Given the description of an element on the screen output the (x, y) to click on. 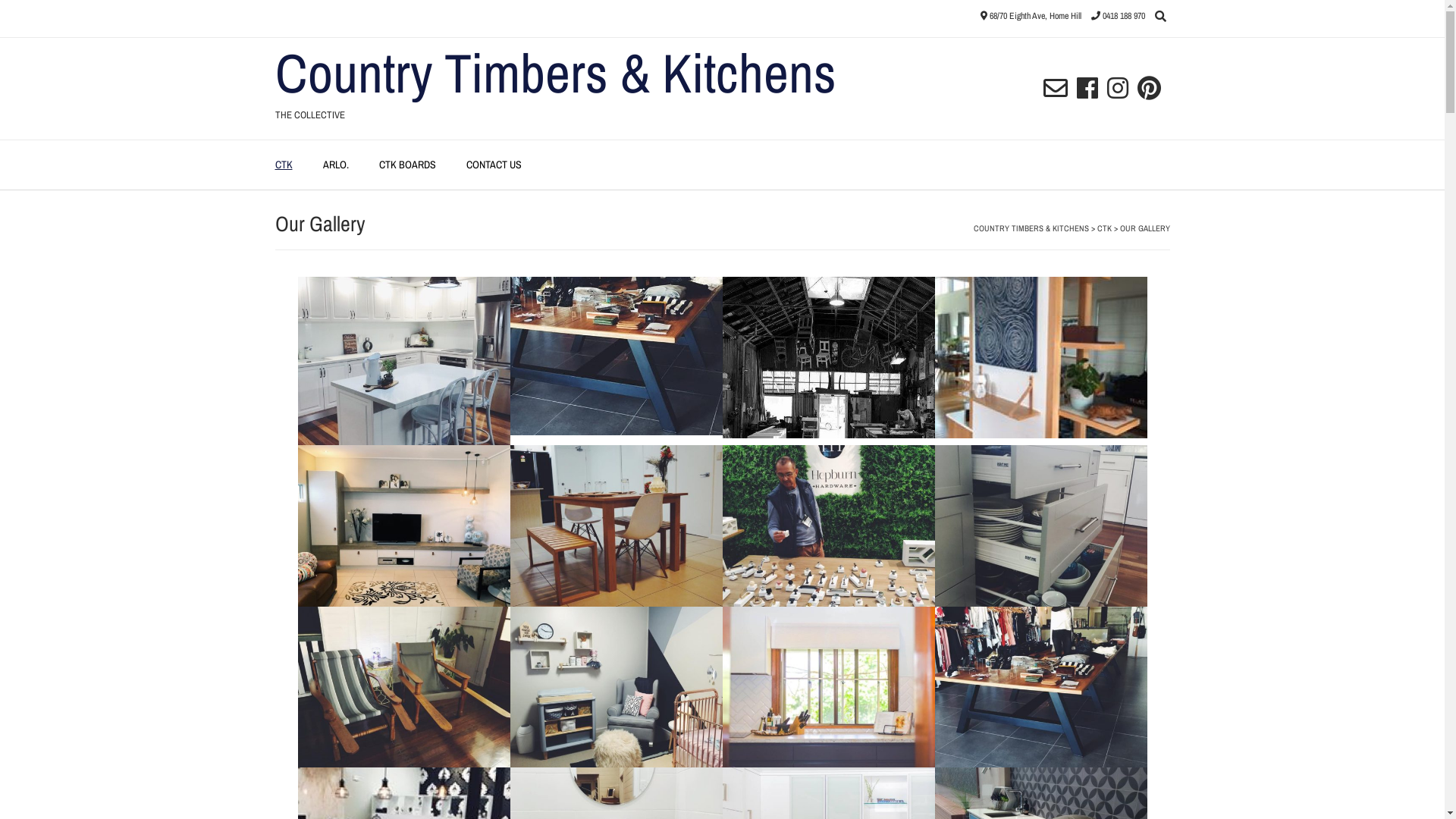
CTK Element type: text (283, 165)
Country Timbers & Kitchens Element type: text (554, 72)
Send Us an Email Element type: hover (1055, 88)
CTK Element type: text (1103, 227)
ARLO. Element type: text (335, 165)
Pin Us on Pinterest Element type: hover (1149, 88)
Find Us on Facebook Element type: hover (1087, 88)
CONTACT US Element type: text (493, 165)
Follow Us on Instagram Element type: hover (1117, 88)
COUNTRY TIMBERS & KITCHENS Element type: text (1030, 227)
CTK BOARDS Element type: text (407, 165)
